Given the description of an element on the screen output the (x, y) to click on. 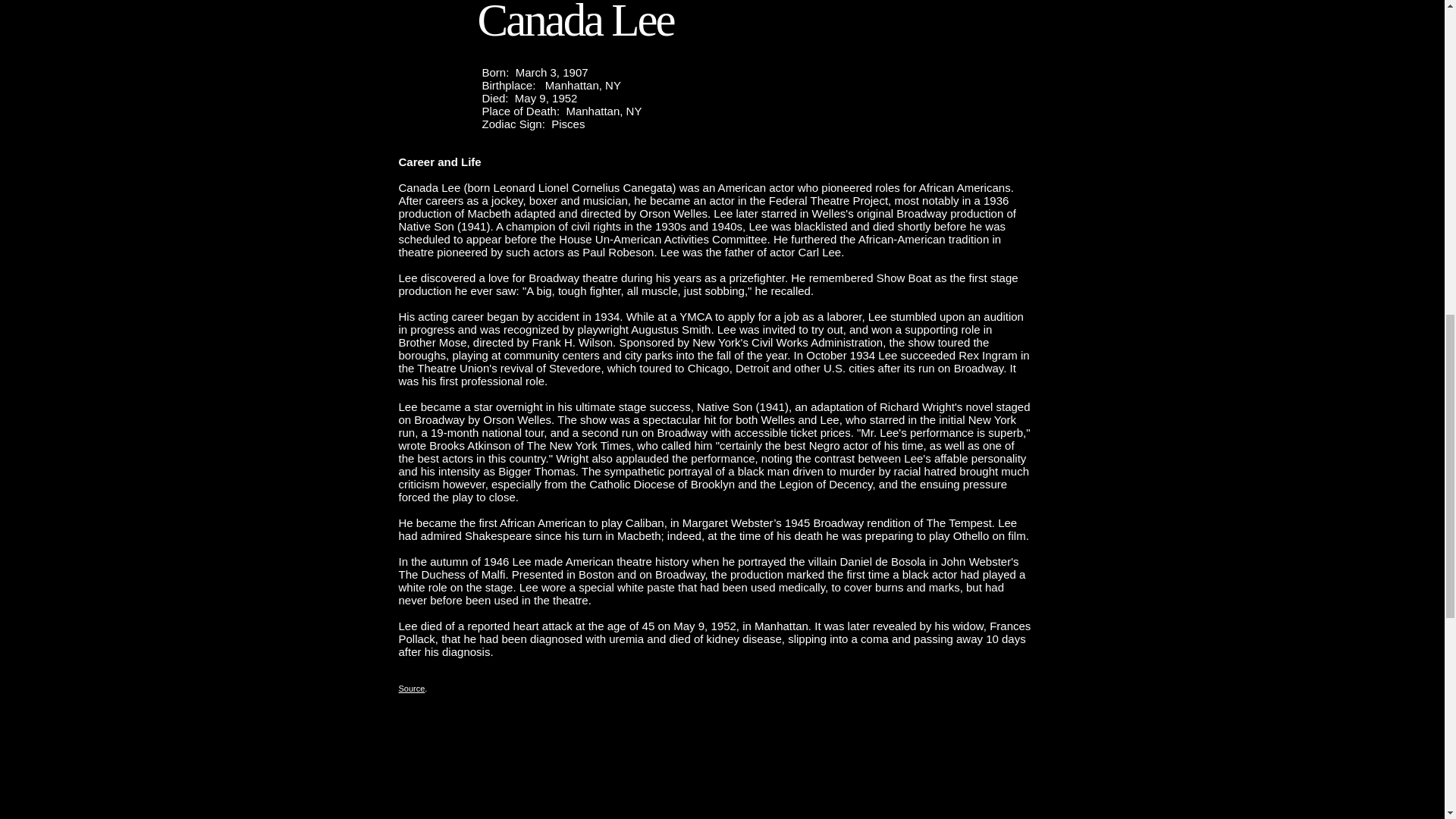
Source (411, 687)
